Given the description of an element on the screen output the (x, y) to click on. 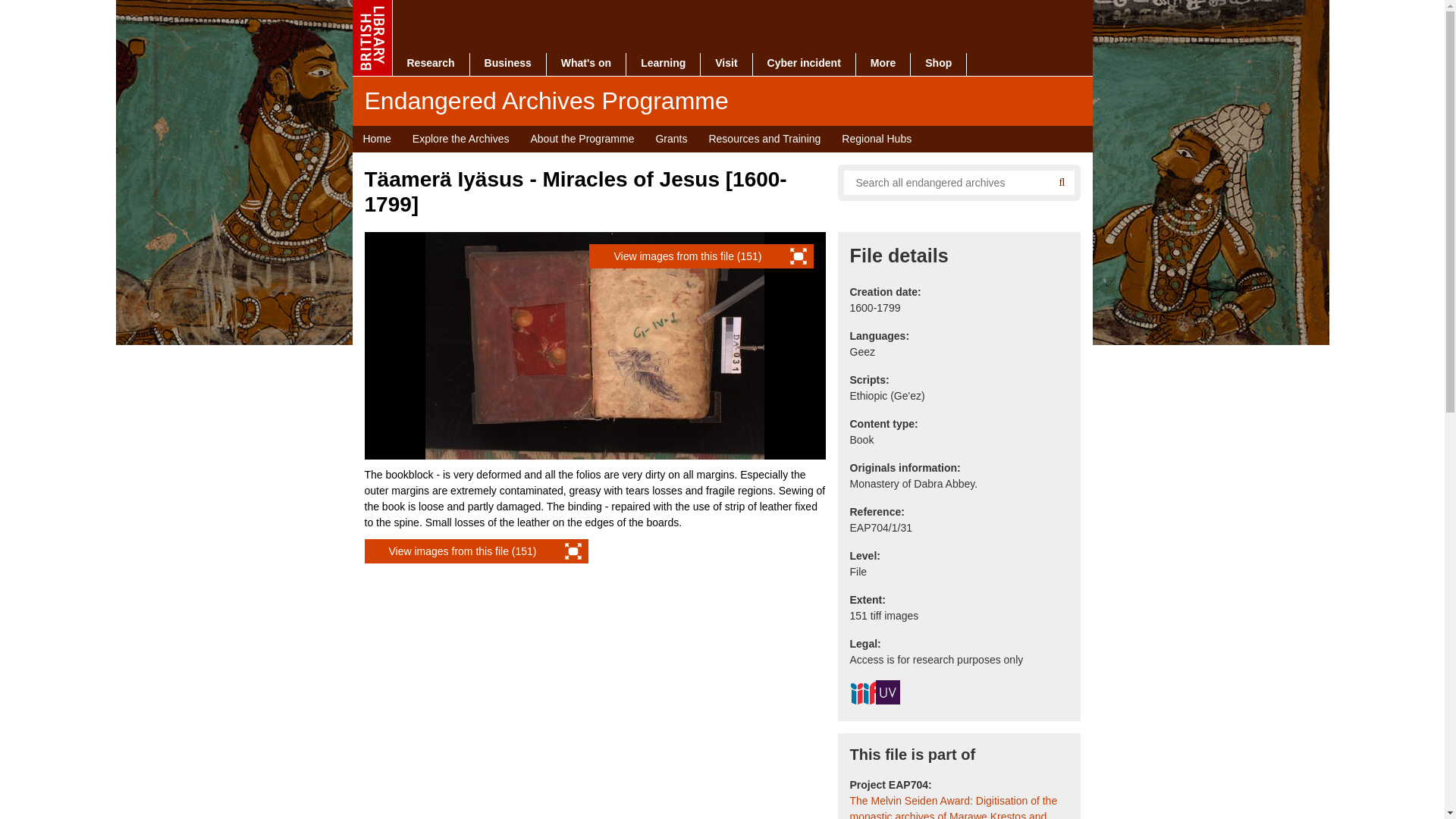
Resources and Training (764, 139)
Regional Hubs (876, 139)
Explore the Archives (460, 139)
Grants (671, 139)
About the Programme (582, 139)
Visit (725, 64)
Business (508, 64)
Explore EAP projects and collections (460, 139)
Information about grants we award (671, 139)
